Given the description of an element on the screen output the (x, y) to click on. 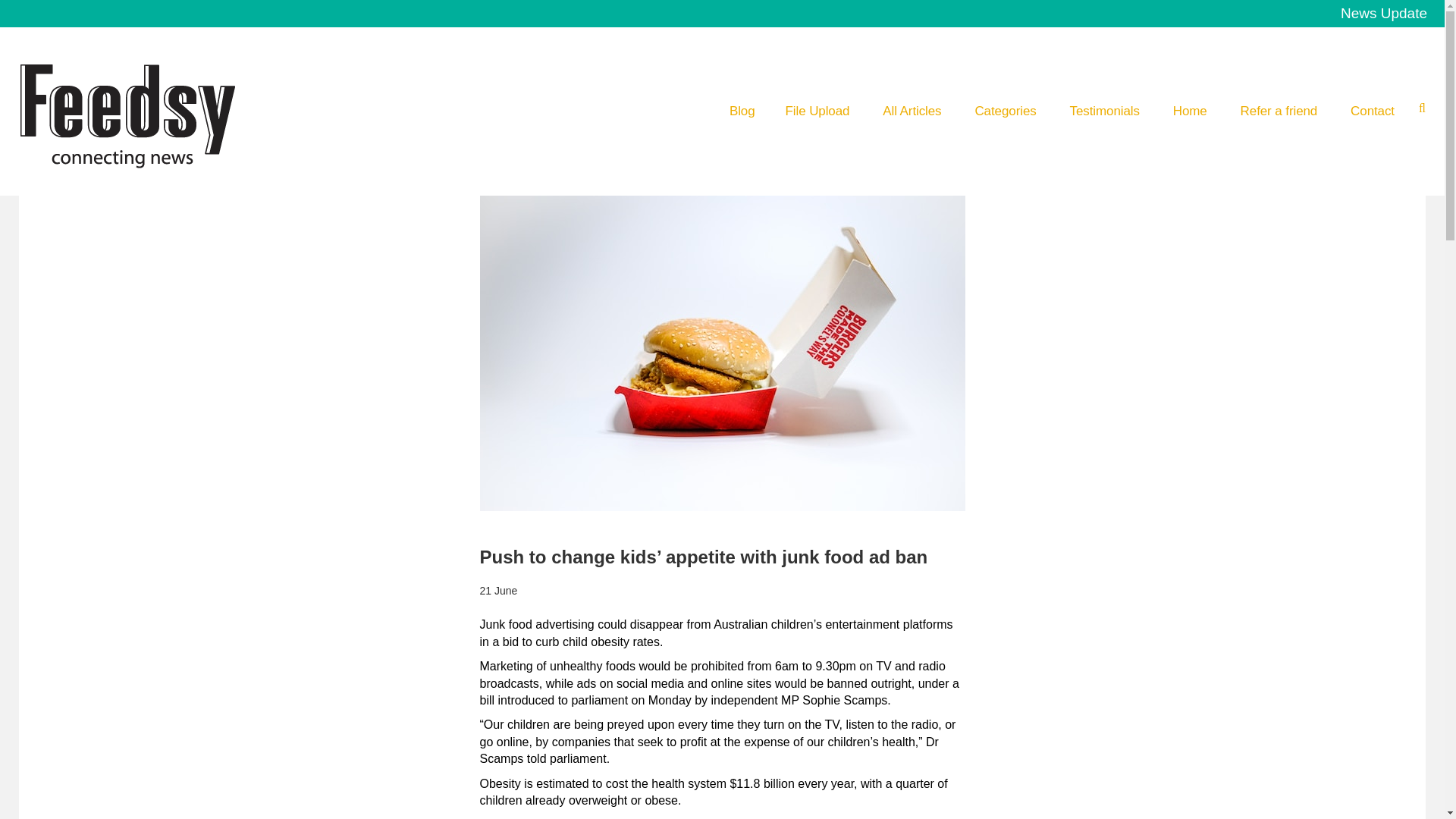
Testimonials (1105, 110)
Refer a friend (1278, 110)
File Upload (818, 110)
Blog (742, 110)
Home (1190, 110)
Contact (1372, 110)
